Given the description of an element on the screen output the (x, y) to click on. 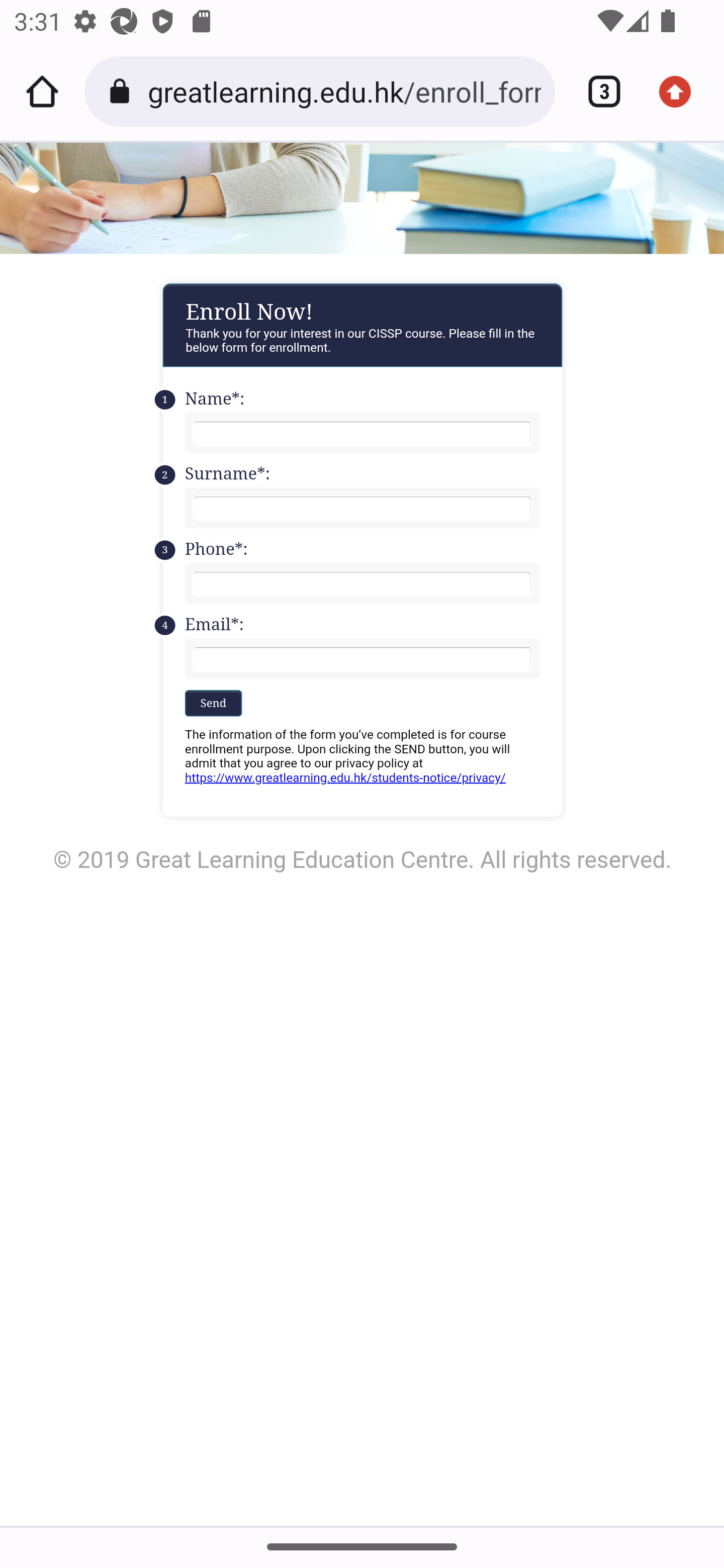
Home (42, 91)
Connection is secure (122, 91)
Switch or close tabs (597, 91)
Update available. More options (681, 91)
Send (213, 702)
